Given the description of an element on the screen output the (x, y) to click on. 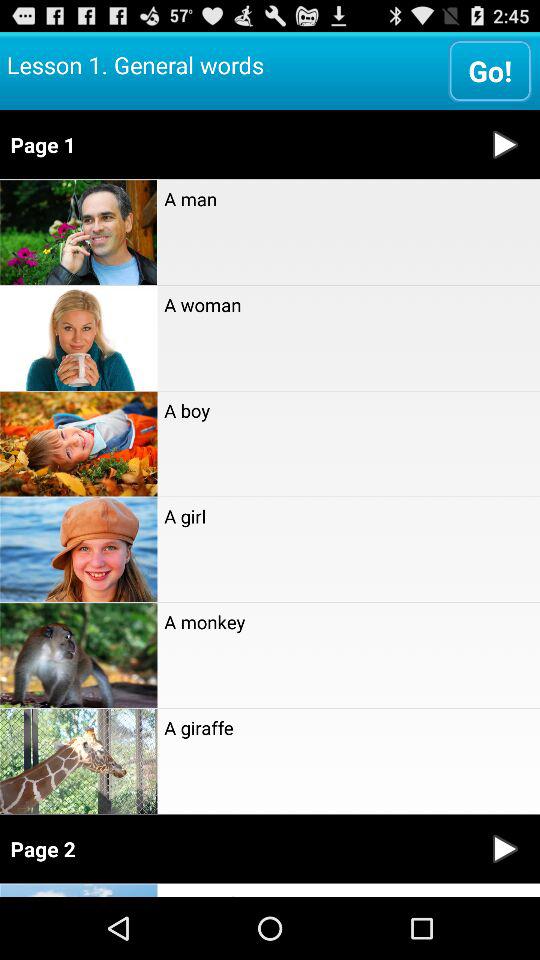
turn off the a boy (348, 410)
